Given the description of an element on the screen output the (x, y) to click on. 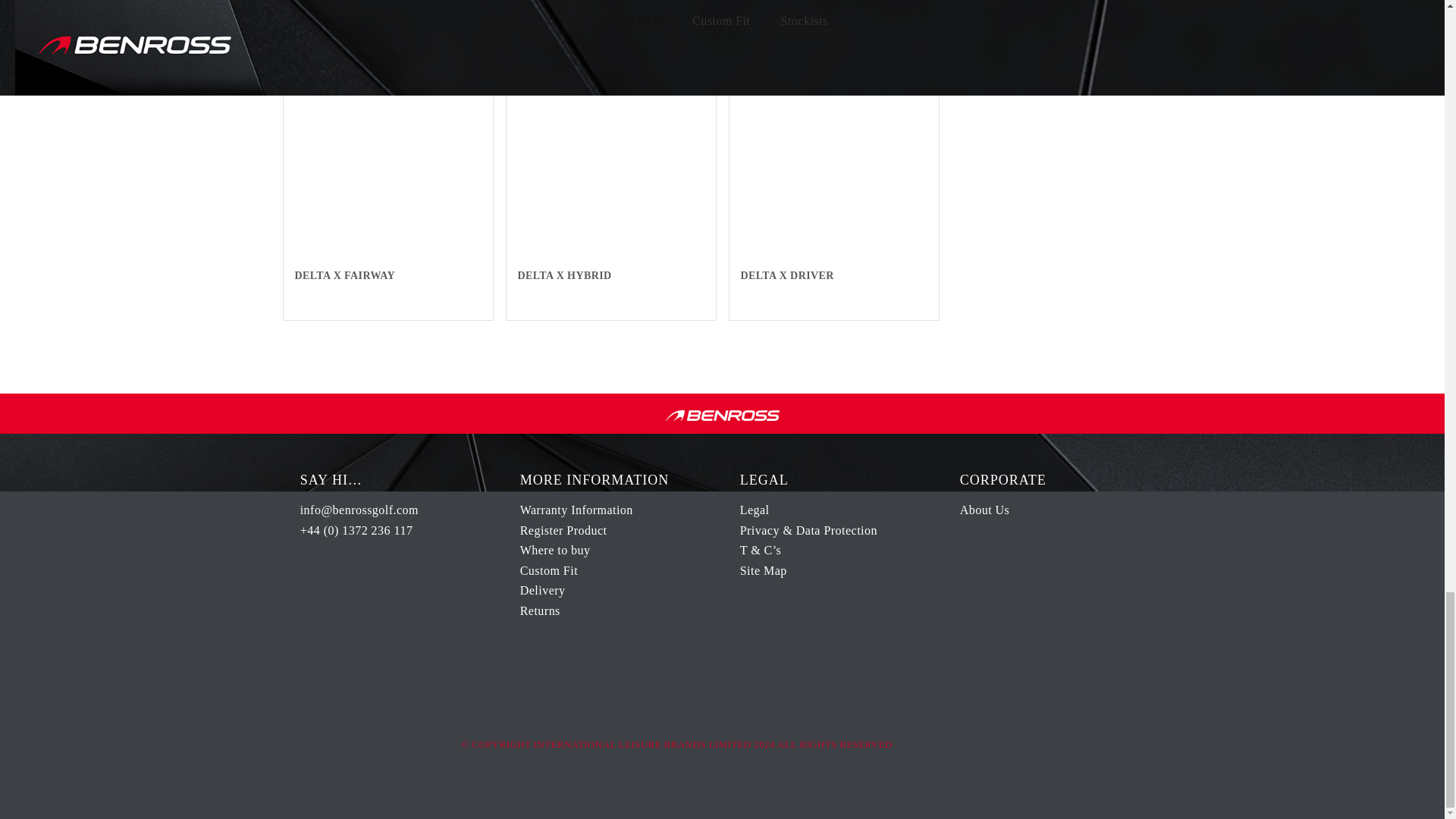
Delta X Fairway (388, 152)
Delta X Hybrid (611, 152)
benross-logo-white (721, 415)
Delta X Driver (834, 152)
